Given the description of an element on the screen output the (x, y) to click on. 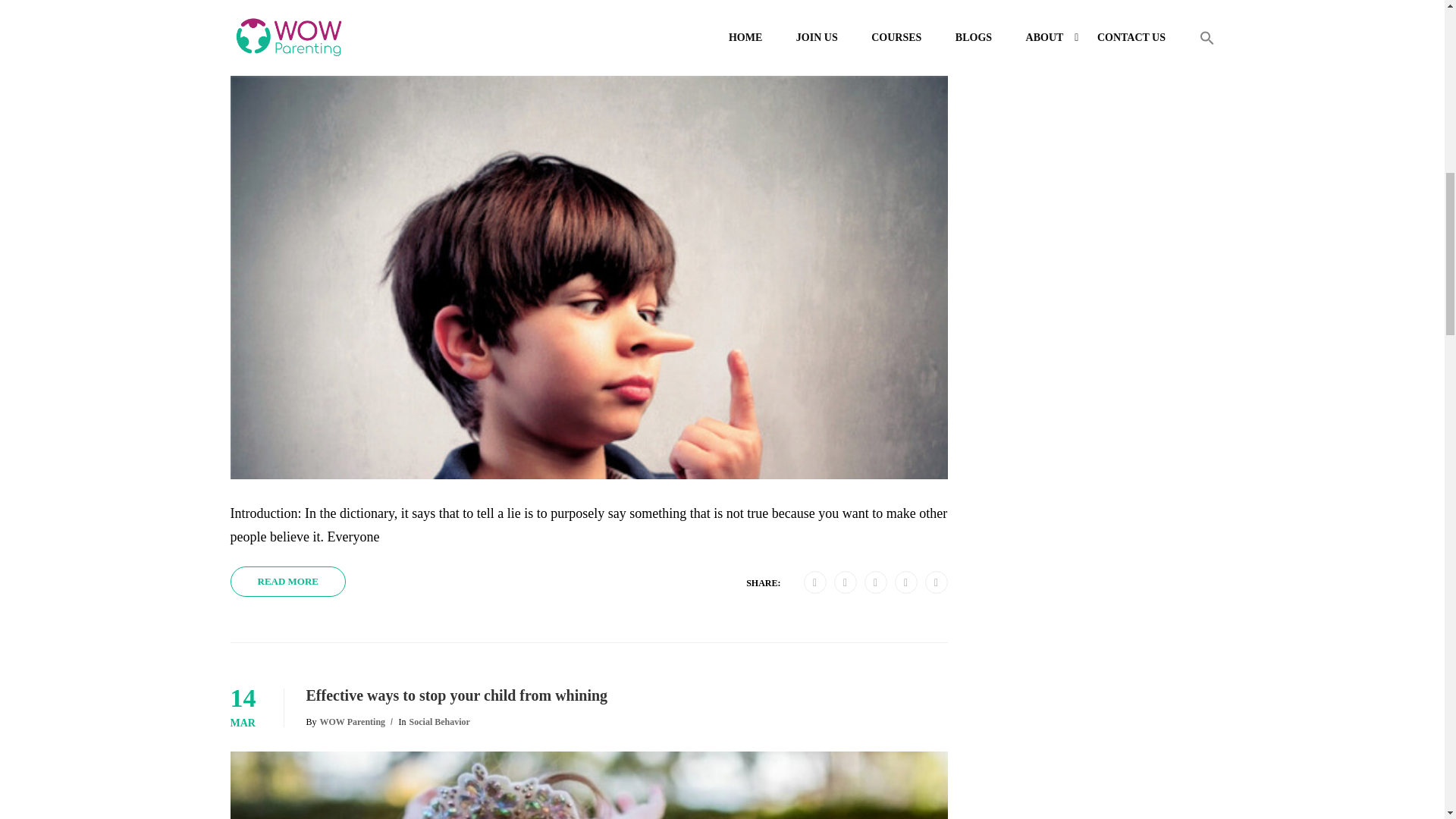
Social Behavior (446, 46)
Why do kids lie? What parents can do to stop it? (626, 19)
Radhika Chandika (355, 46)
